Given the description of an element on the screen output the (x, y) to click on. 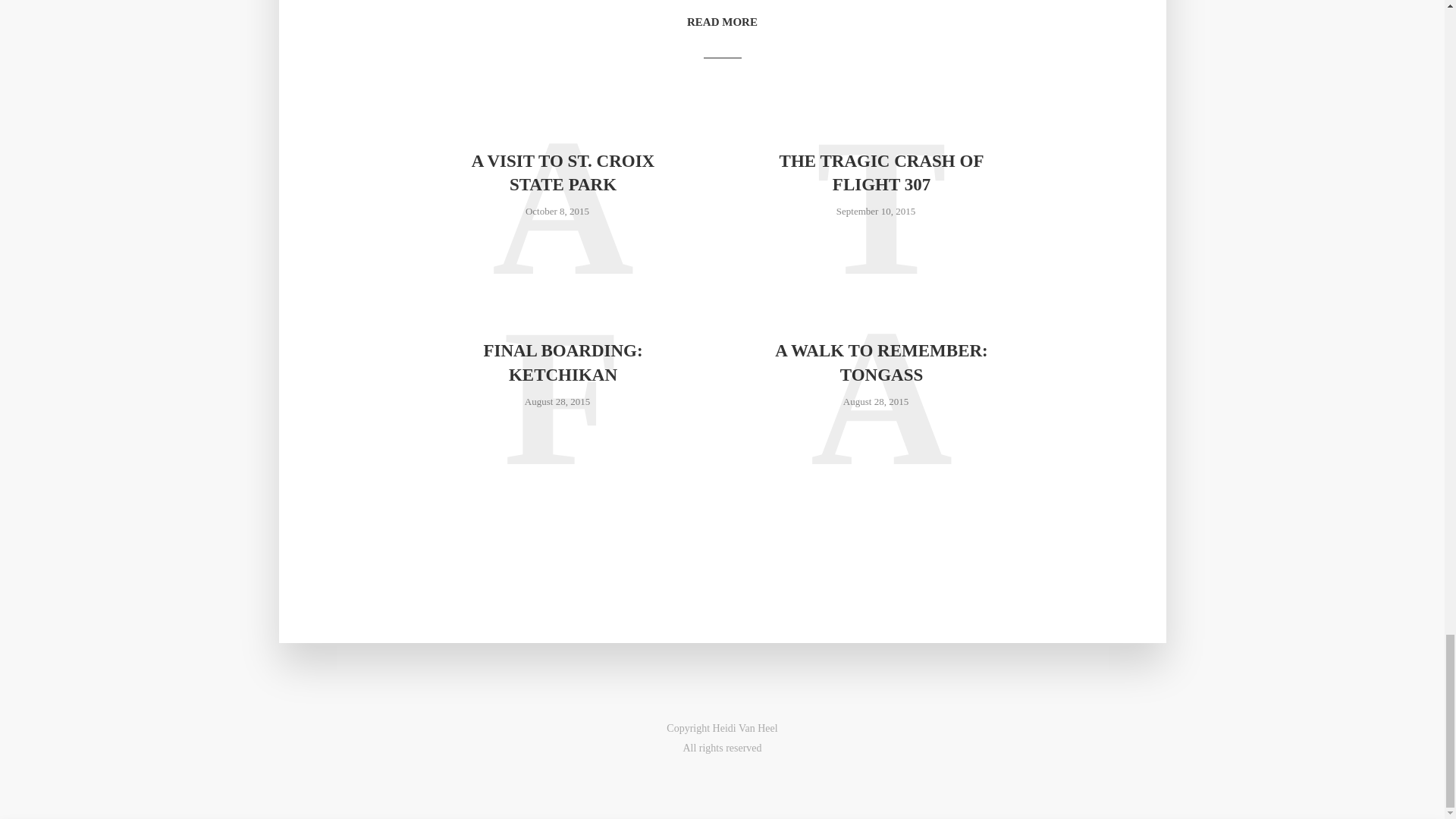
A WALK TO REMEMBER: TONGASS (880, 362)
FINAL BOARDING: KETCHIKAN (562, 362)
THE TRAGIC CRASH OF FLIGHT 307 (880, 172)
A VISIT TO ST. CROIX STATE PARK (562, 172)
